Given the description of an element on the screen output the (x, y) to click on. 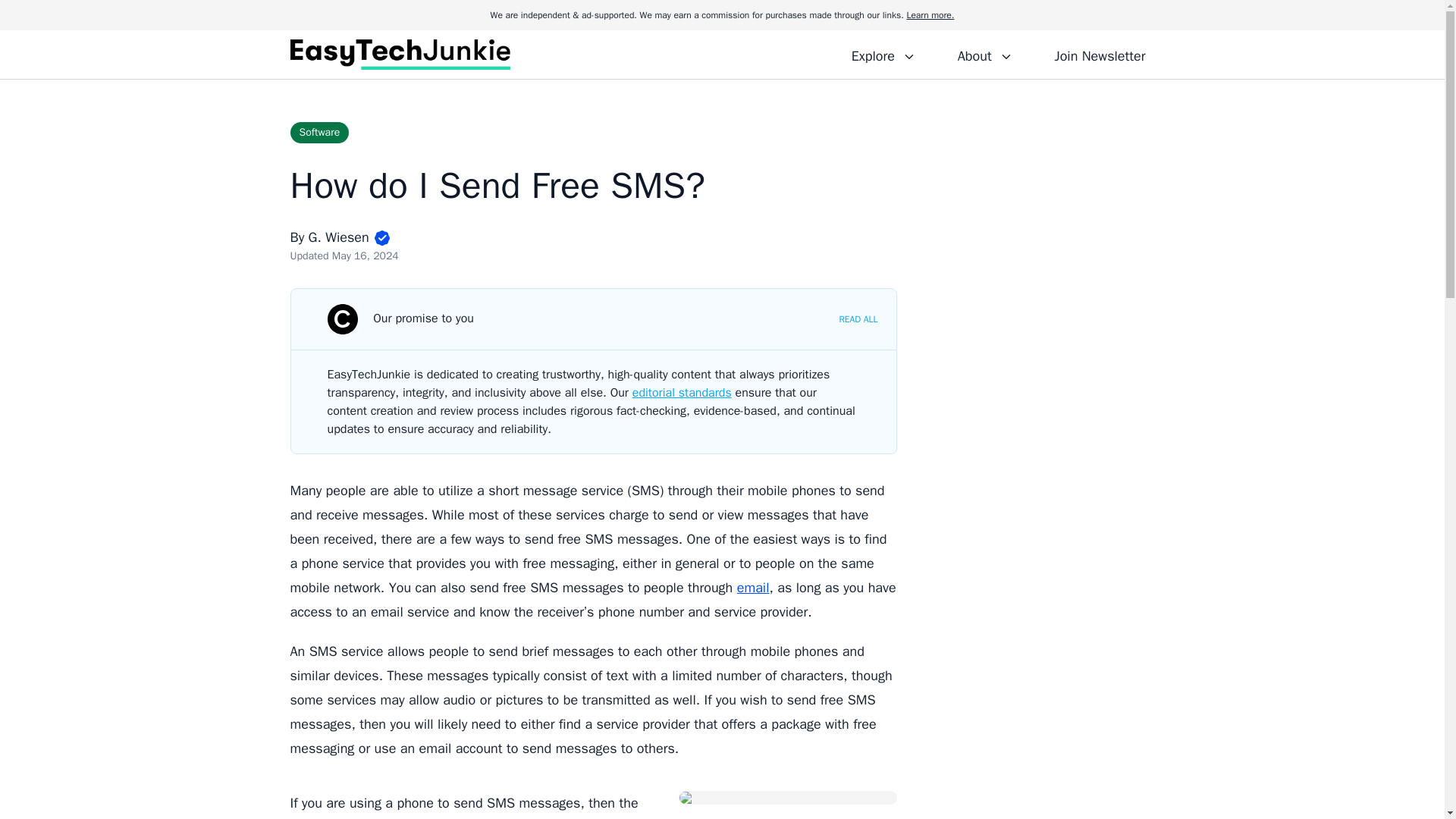
Learn more. (929, 15)
READ ALL (857, 318)
editorial standards (681, 393)
Explore (883, 54)
email (753, 587)
Join Newsletter (1099, 54)
Software (319, 132)
About (984, 54)
